Given the description of an element on the screen output the (x, y) to click on. 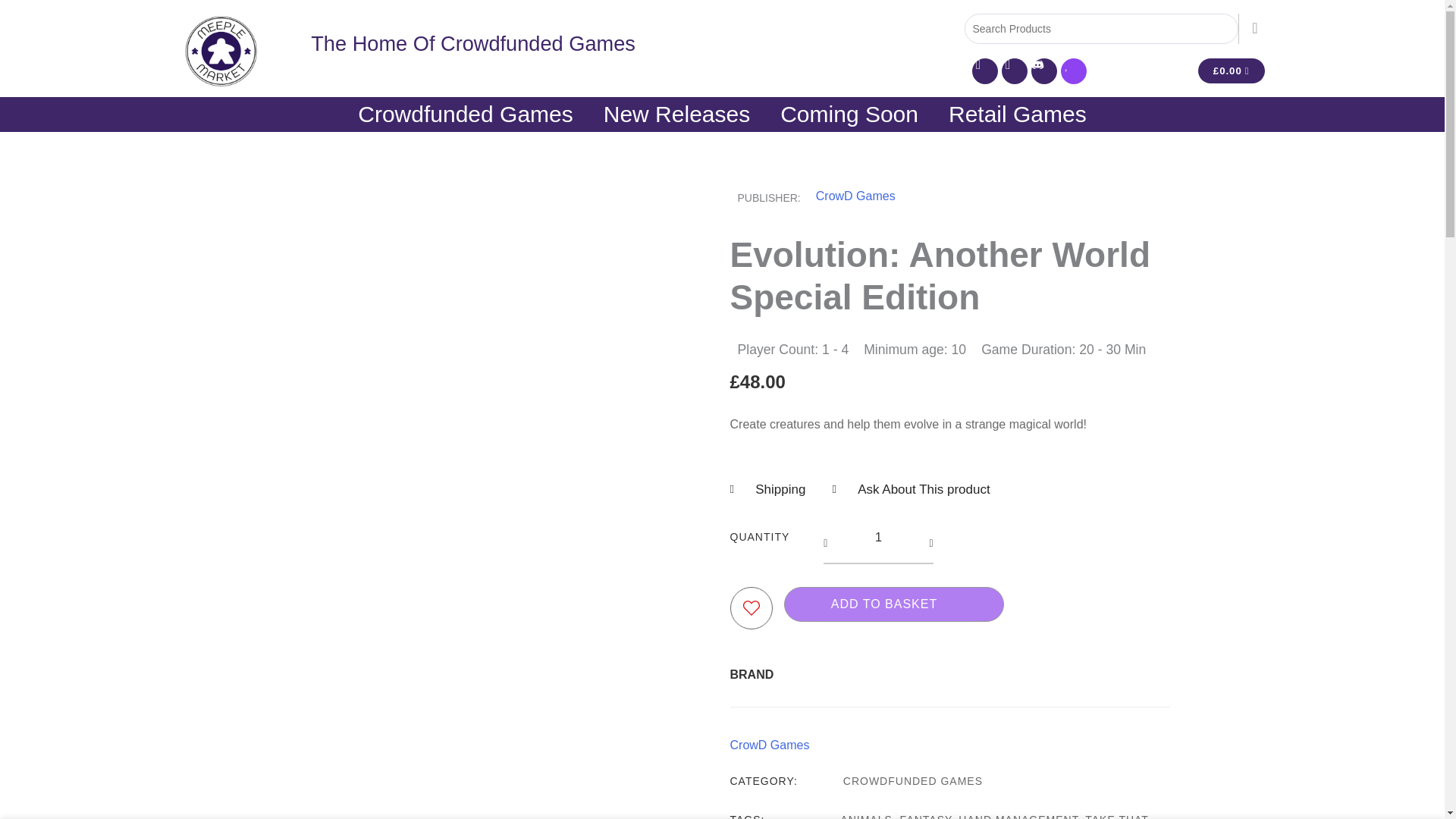
CROWDFUNDED GAMES (912, 780)
Crowdfunded Games (465, 114)
View brand (855, 195)
CrowD Games (855, 195)
HAND MANAGEMENT (1017, 816)
View brand (769, 744)
Heart (1072, 71)
FANTASY (925, 816)
CrowD Games (769, 744)
New Releases (676, 114)
